Given the description of an element on the screen output the (x, y) to click on. 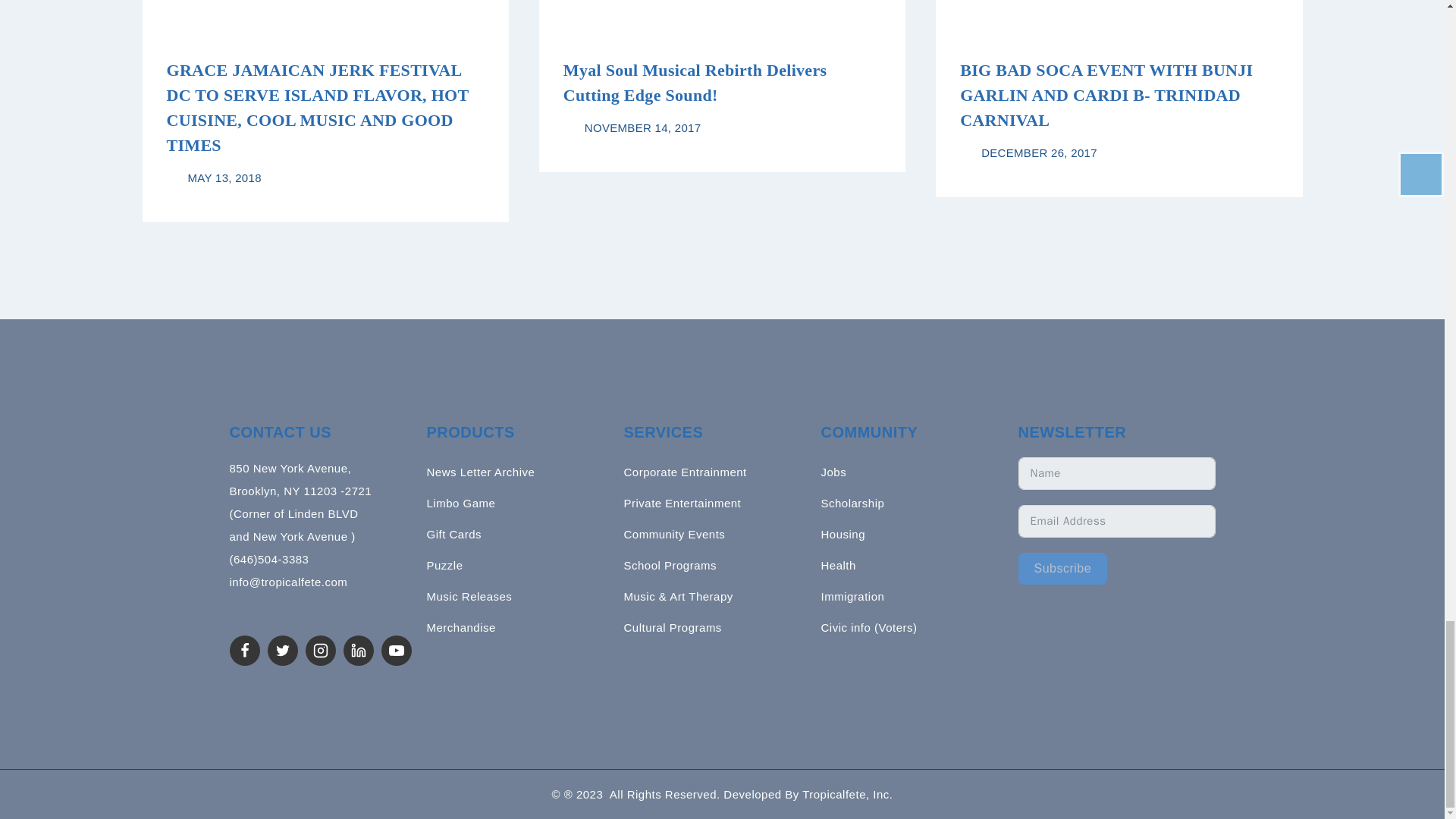
Myal Soul Musical Rebirth Delivers Cutting Edge Sound! (695, 82)
